Given the description of an element on the screen output the (x, y) to click on. 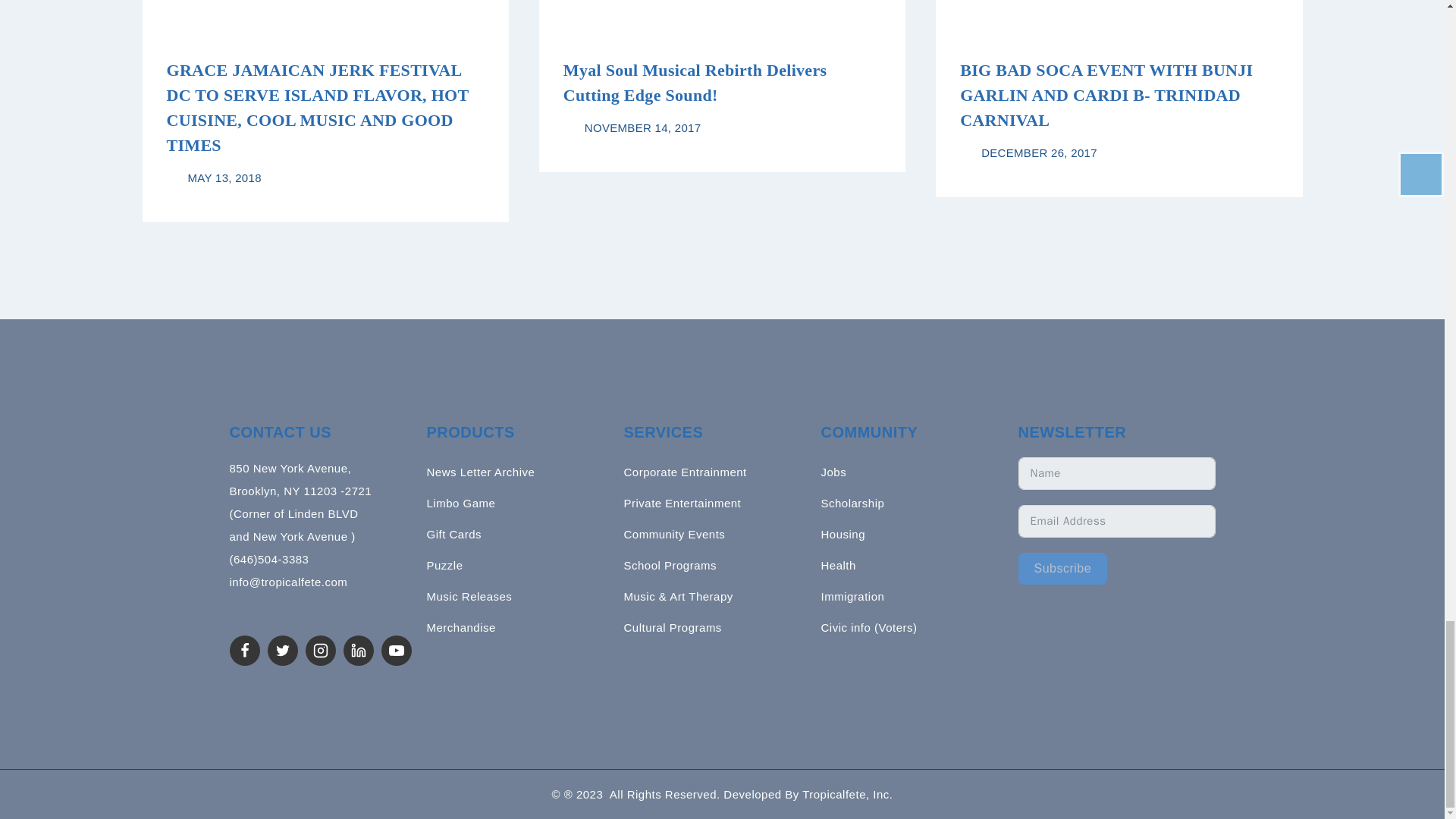
Myal Soul Musical Rebirth Delivers Cutting Edge Sound! (695, 82)
